Given the description of an element on the screen output the (x, y) to click on. 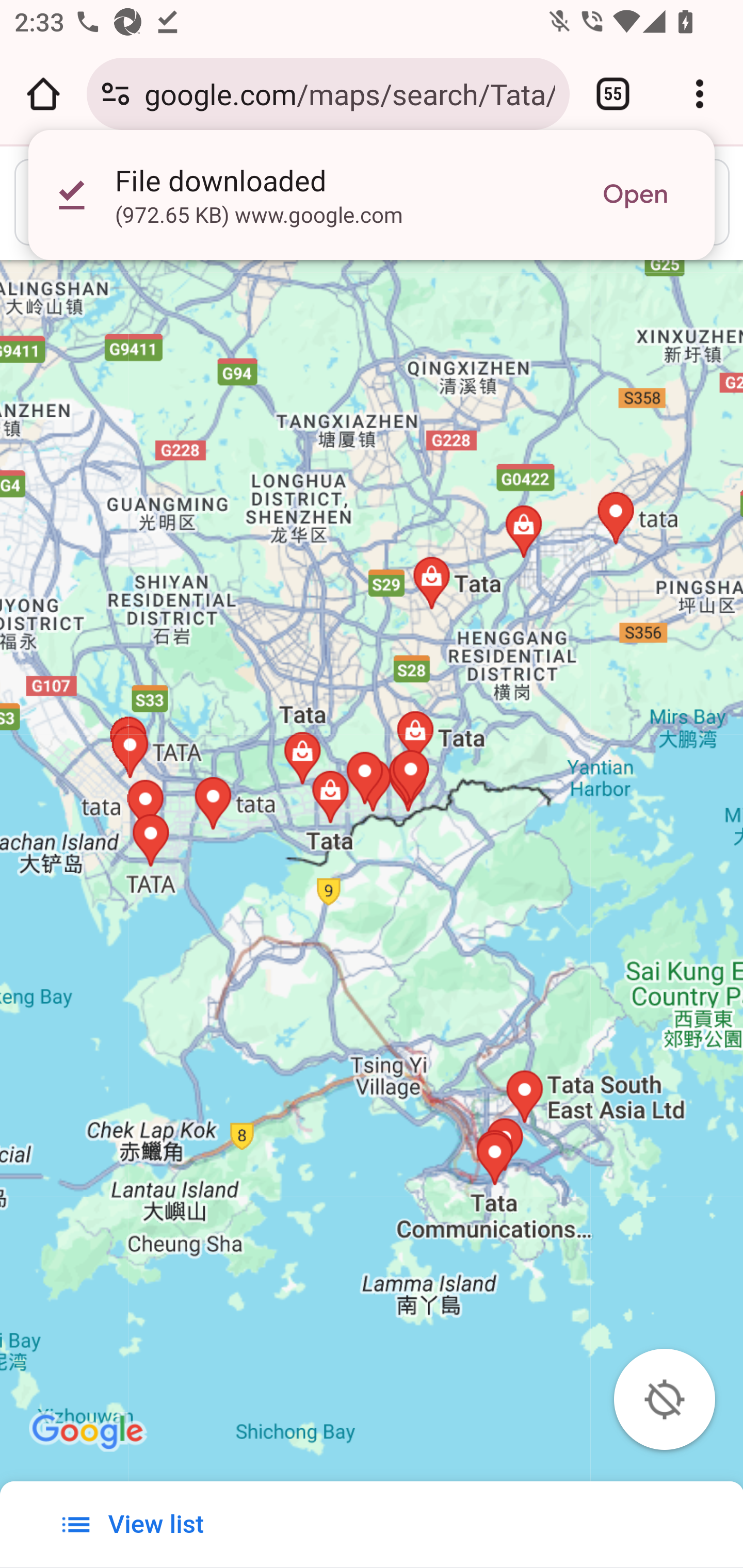
Open the home page (43, 93)
Connection is secure (115, 93)
Switch or close tabs (612, 93)
Customize and control Google Chrome (699, 93)
Open (634, 195)
View list (137, 1524)
